Given the description of an element on the screen output the (x, y) to click on. 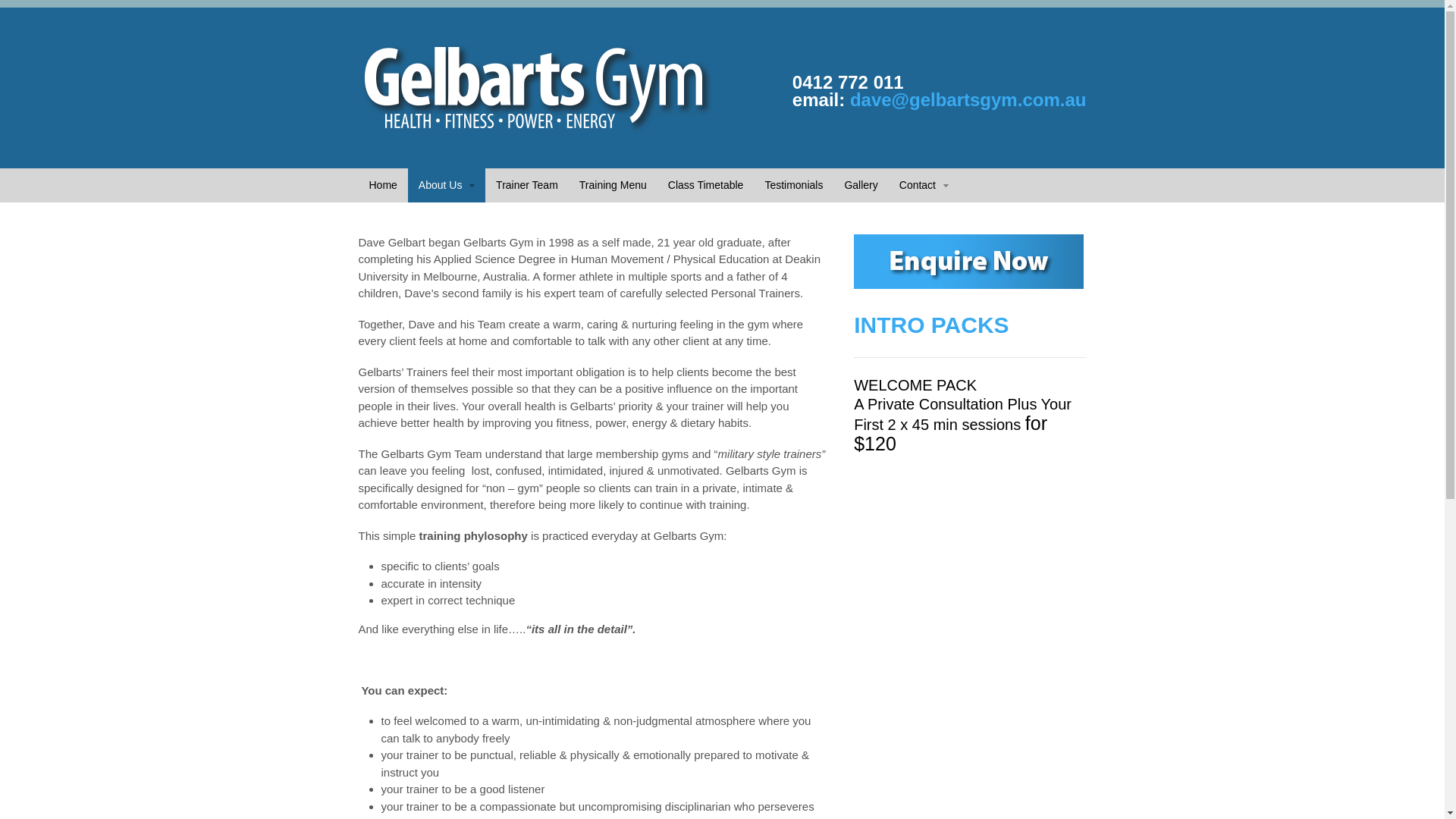
Class Timetable Element type: text (705, 185)
Testimonials Element type: text (793, 185)
Home Element type: text (382, 185)
dave@gelbartsgym.com.au Element type: text (968, 99)
Contact Element type: text (923, 185)
Training Menu Element type: text (612, 185)
About Us Element type: text (446, 185)
Trainer Team Element type: text (526, 185)
Gallery Element type: text (860, 185)
